Given the description of an element on the screen output the (x, y) to click on. 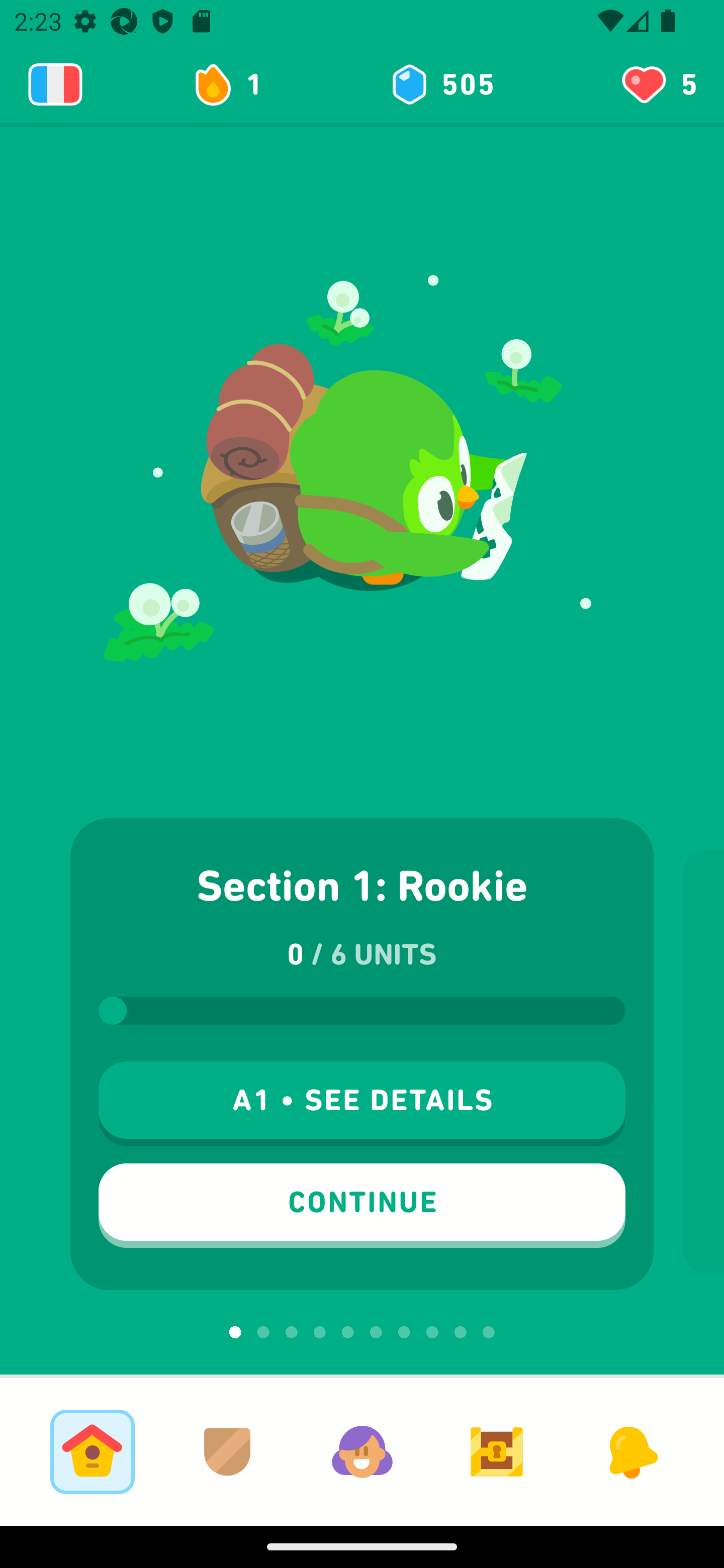
Learning 2131888976 (55, 84)
1 day streak 1 (236, 84)
505 (441, 84)
You have 5 hearts left 5 (657, 84)
A1 • SEE DETAILS (361, 1103)
CONTINUE (361, 1205)
Learn Tab (91, 1451)
Leagues Tab (227, 1451)
Profile Tab (361, 1451)
Goals Tab (496, 1451)
News Tab (631, 1451)
